Given the description of an element on the screen output the (x, y) to click on. 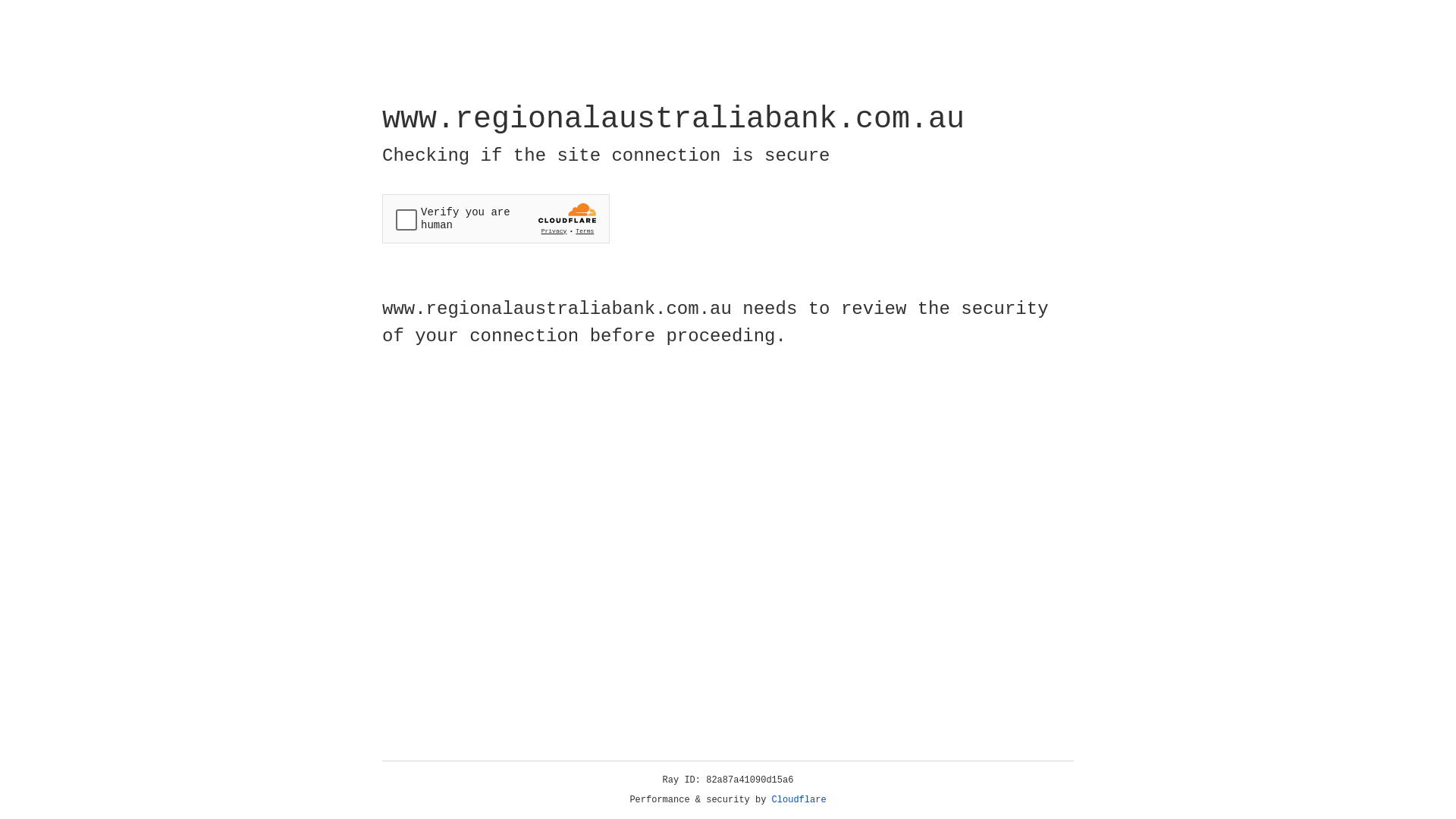
Widget containing a Cloudflare security challenge Element type: hover (495, 218)
Cloudflare Element type: text (798, 799)
